Given the description of an element on the screen output the (x, y) to click on. 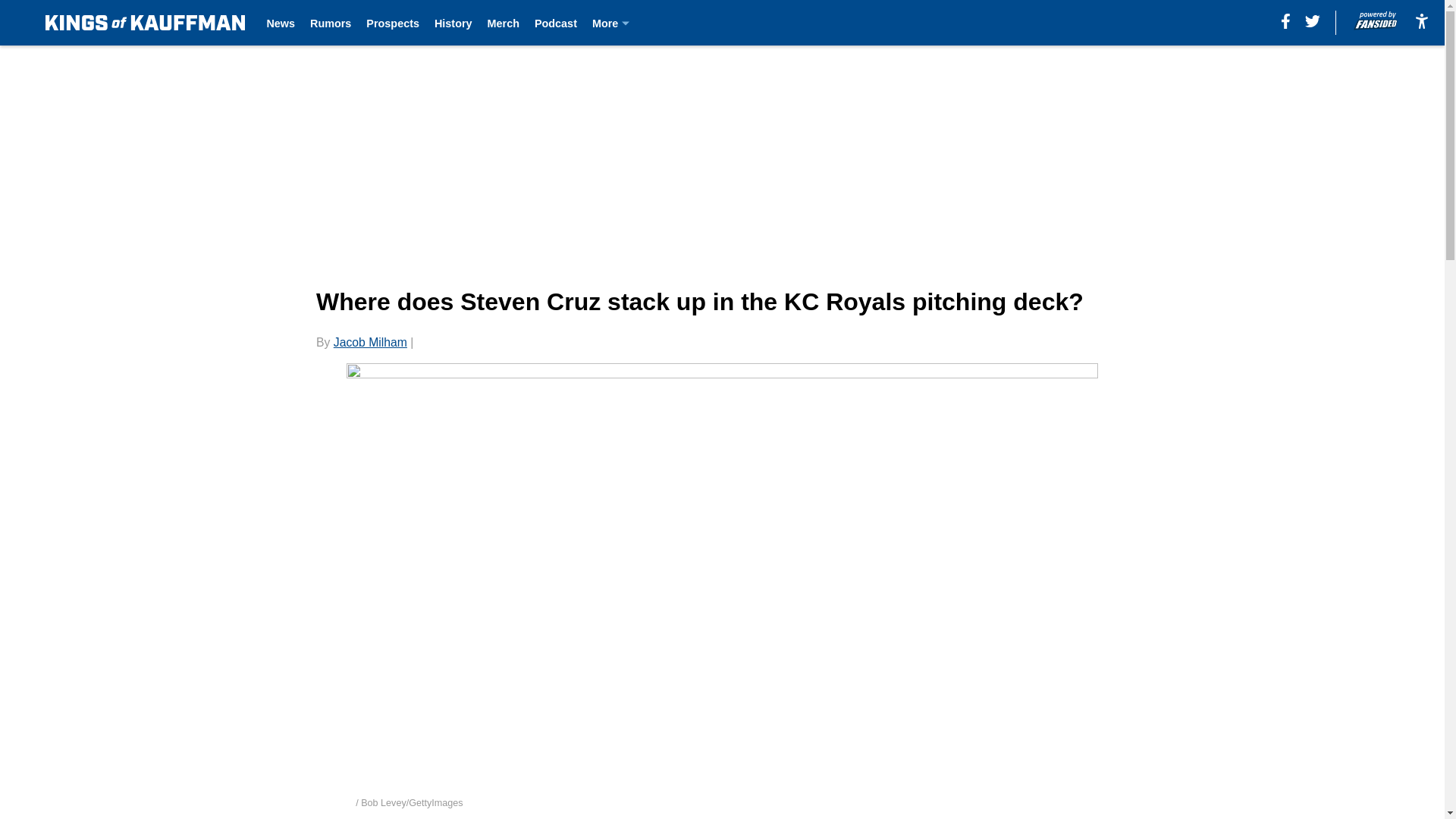
News (280, 23)
History (452, 23)
Podcast (555, 23)
Rumors (330, 23)
Prospects (392, 23)
Jacob Milham (370, 341)
Merch (503, 23)
